Given the description of an element on the screen output the (x, y) to click on. 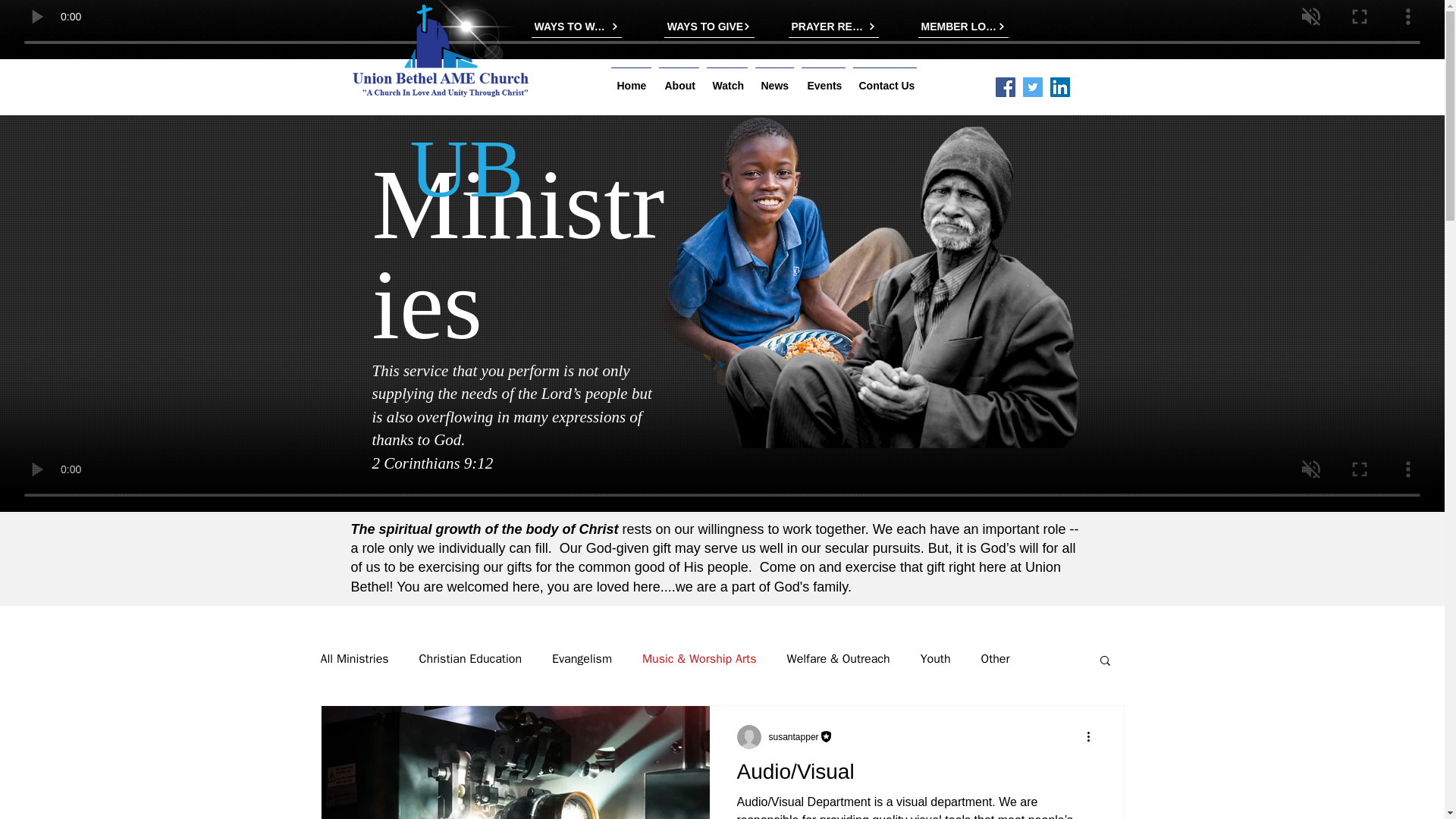
susantapper (793, 737)
Evangelism (581, 659)
News (773, 78)
Youth (935, 659)
susantapper (800, 736)
PRAYER REQUESTS (834, 26)
Christian Education (470, 659)
MEMBER LOGIN (962, 26)
Contact Us (884, 78)
All Ministries (354, 659)
